Given the description of an element on the screen output the (x, y) to click on. 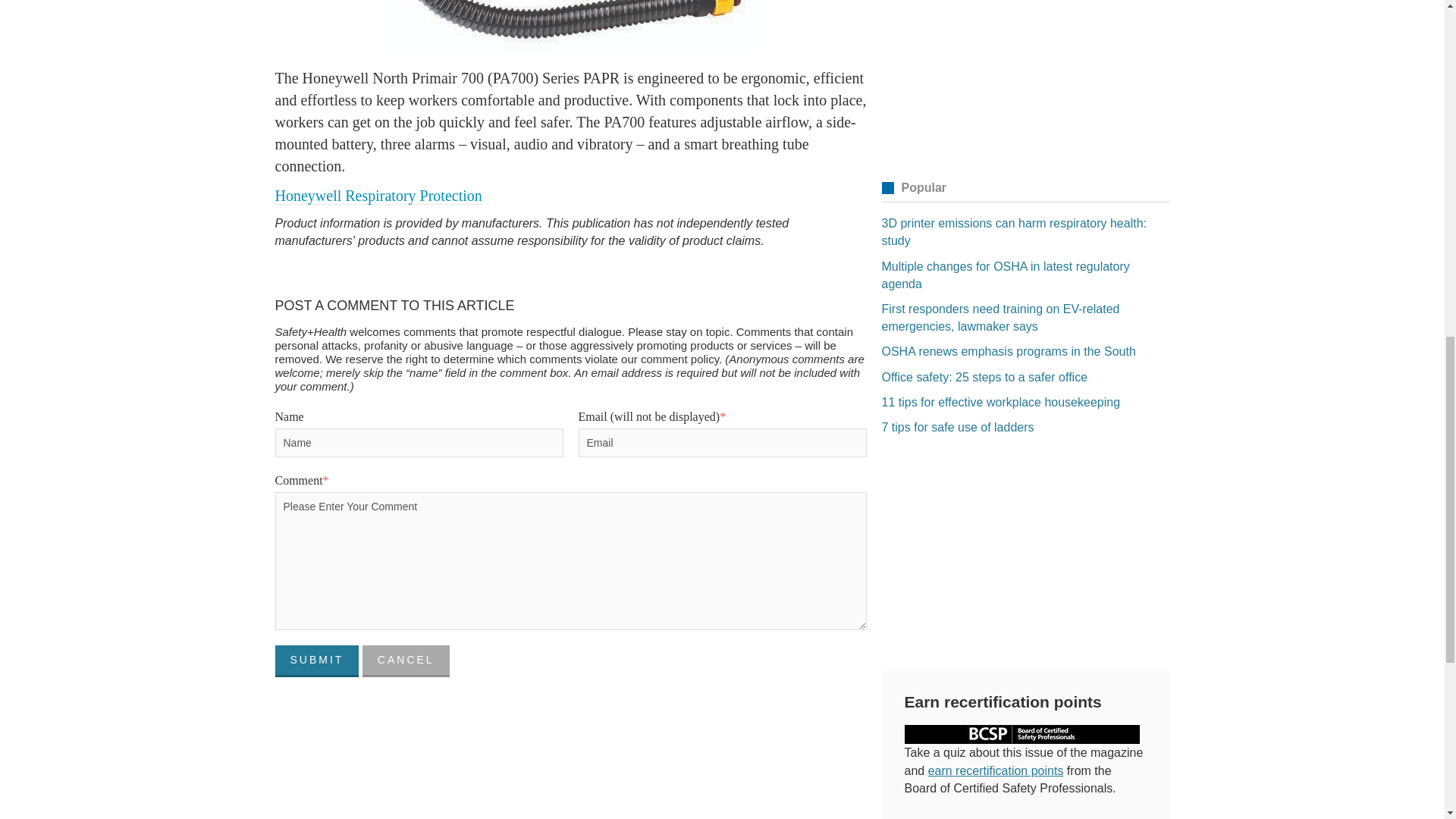
Email (722, 442)
Submit (316, 661)
Cancel (405, 661)
Name (418, 442)
